Given the description of an element on the screen output the (x, y) to click on. 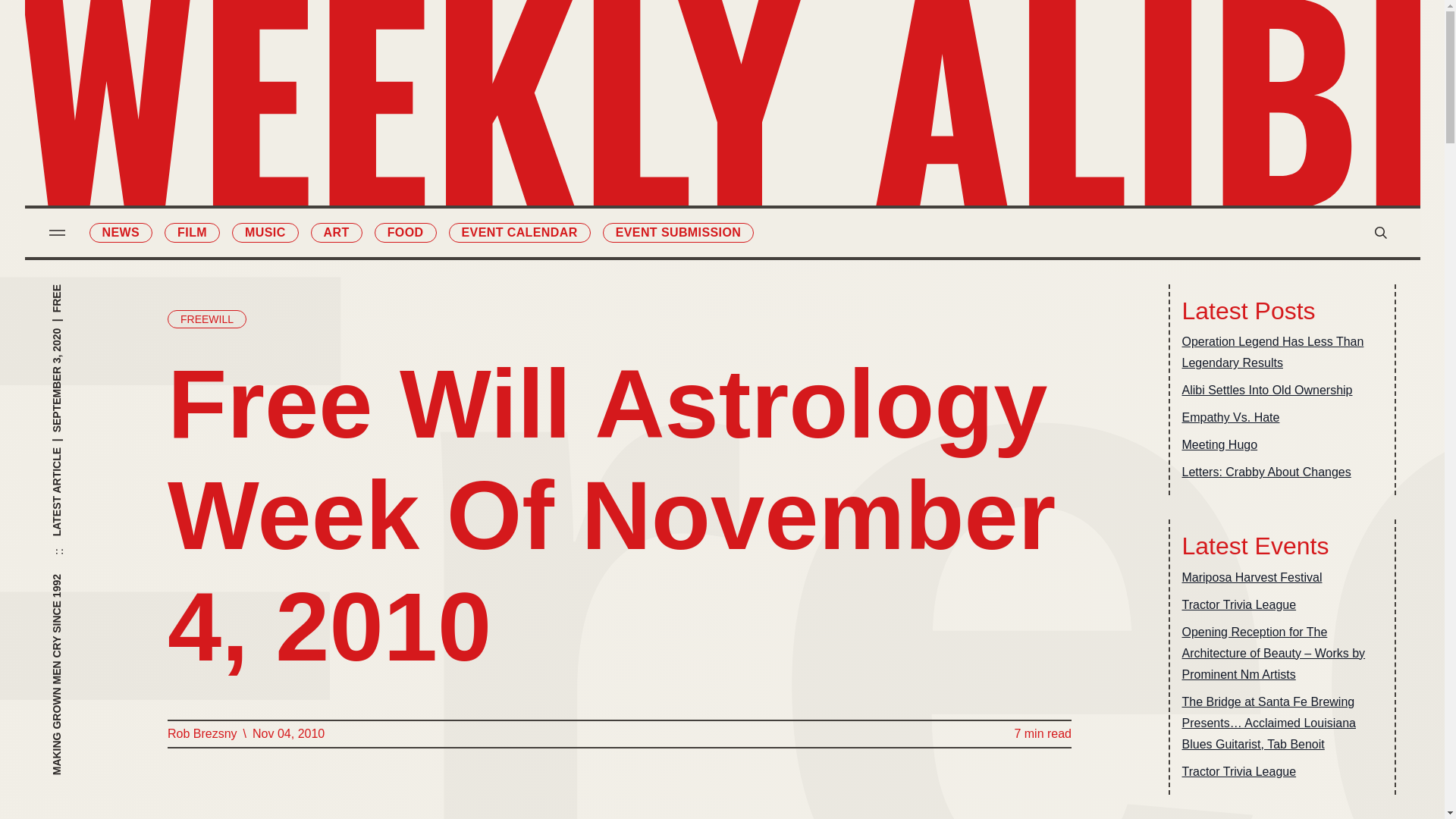
BUSINESS (803, 115)
FREEWILL (206, 319)
MUSIC (640, 115)
Rob Brezsny (201, 733)
EVENTS (803, 147)
MOVIE REVIEWS (803, 51)
NEWS (640, 51)
ART (640, 147)
CANNABIS (640, 210)
EVENT CALENDAR (519, 232)
FILM (191, 232)
FOOD (640, 178)
FOOD (405, 232)
ART (336, 232)
EVENT SUBMISSION (678, 232)
